Given the description of an element on the screen output the (x, y) to click on. 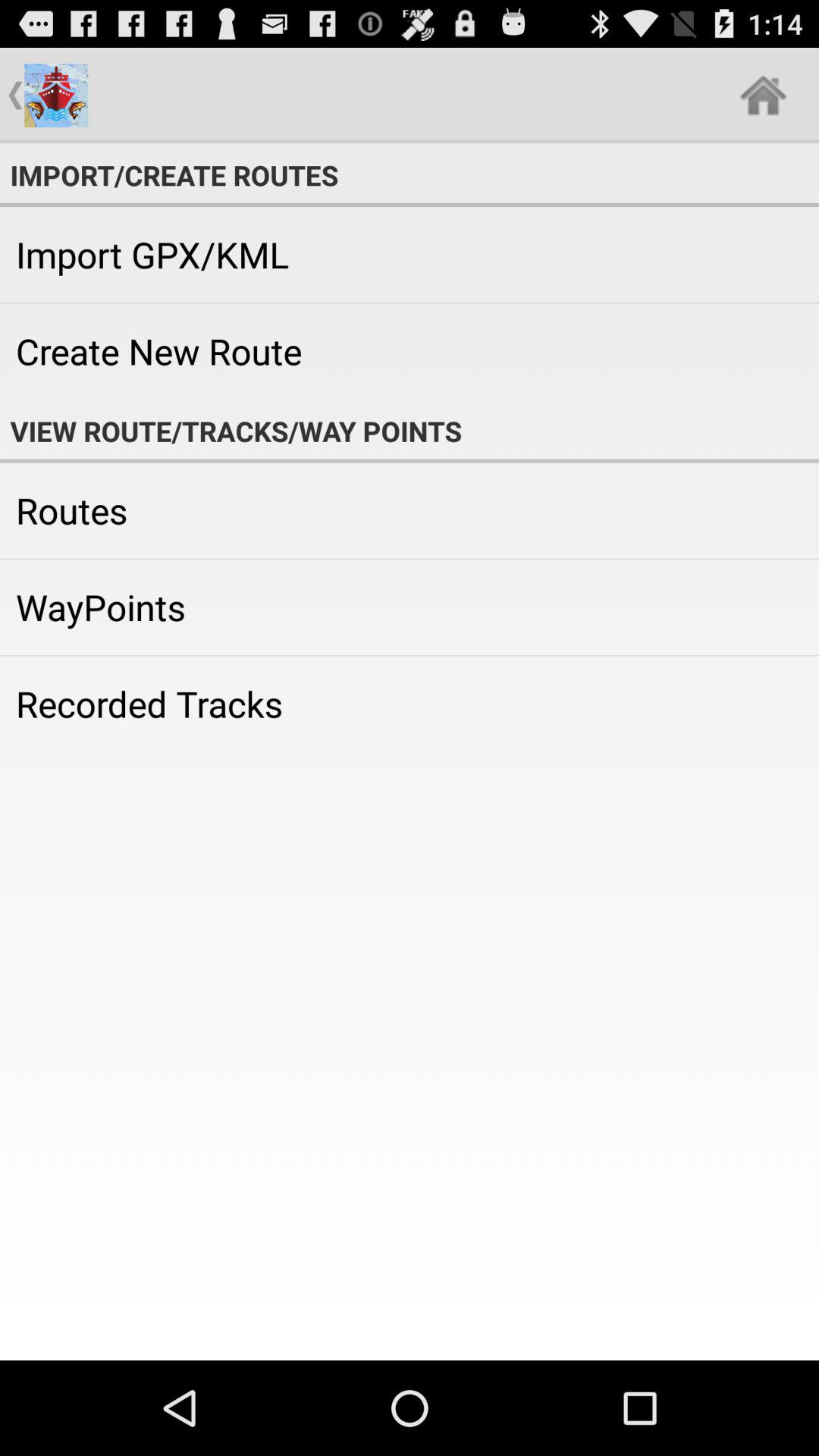
swipe to create new route (409, 351)
